Given the description of an element on the screen output the (x, y) to click on. 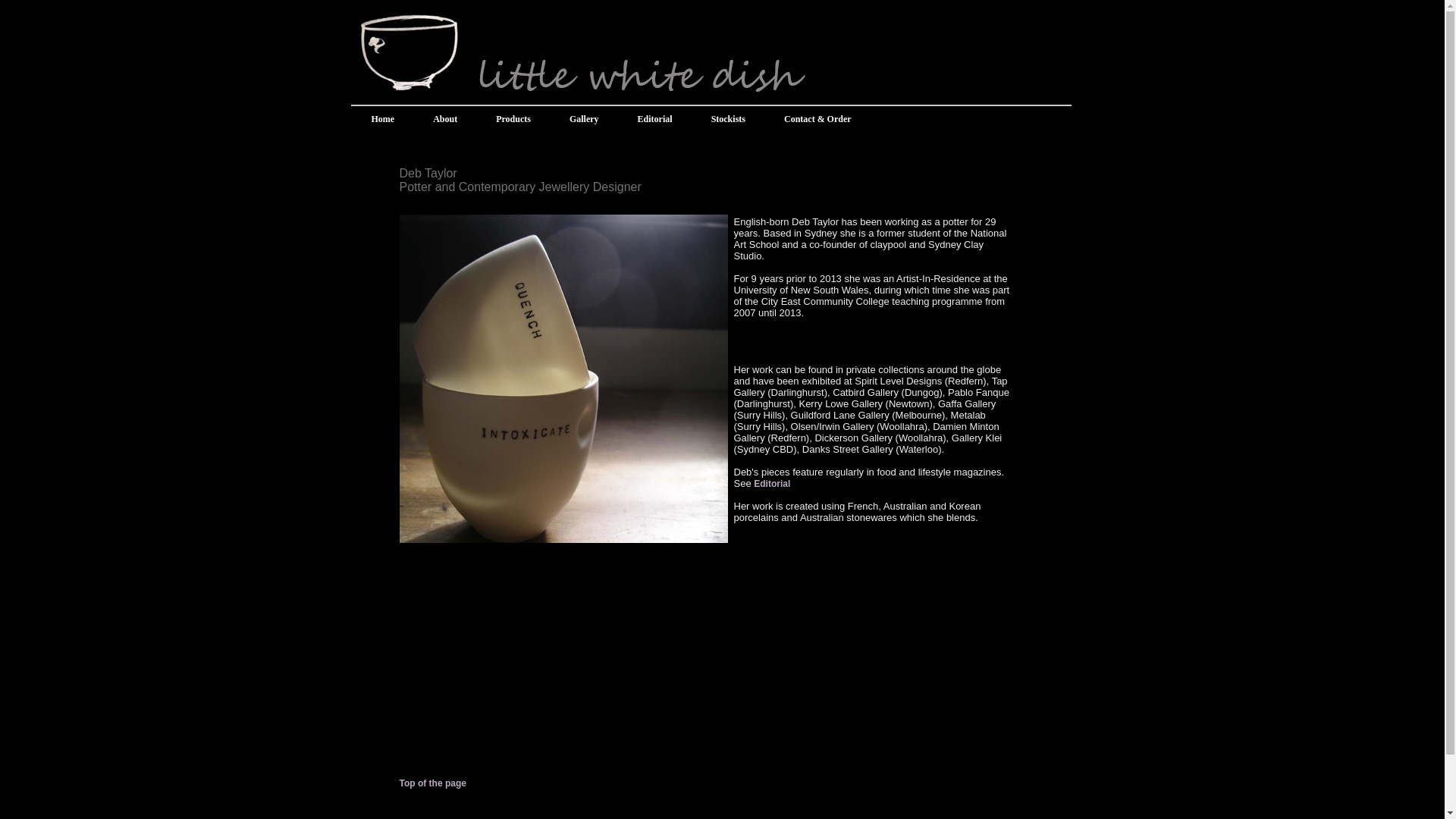
About Element type: text (445, 118)
Editorial Element type: text (655, 118)
Stockists Element type: text (728, 118)
Home Element type: text (382, 118)
Gallery Element type: text (584, 118)
Contact & Order Element type: text (818, 118)
Products Element type: text (513, 118)
Top of the page Element type: text (431, 783)
Editorial Element type: text (771, 483)
